Given the description of an element on the screen output the (x, y) to click on. 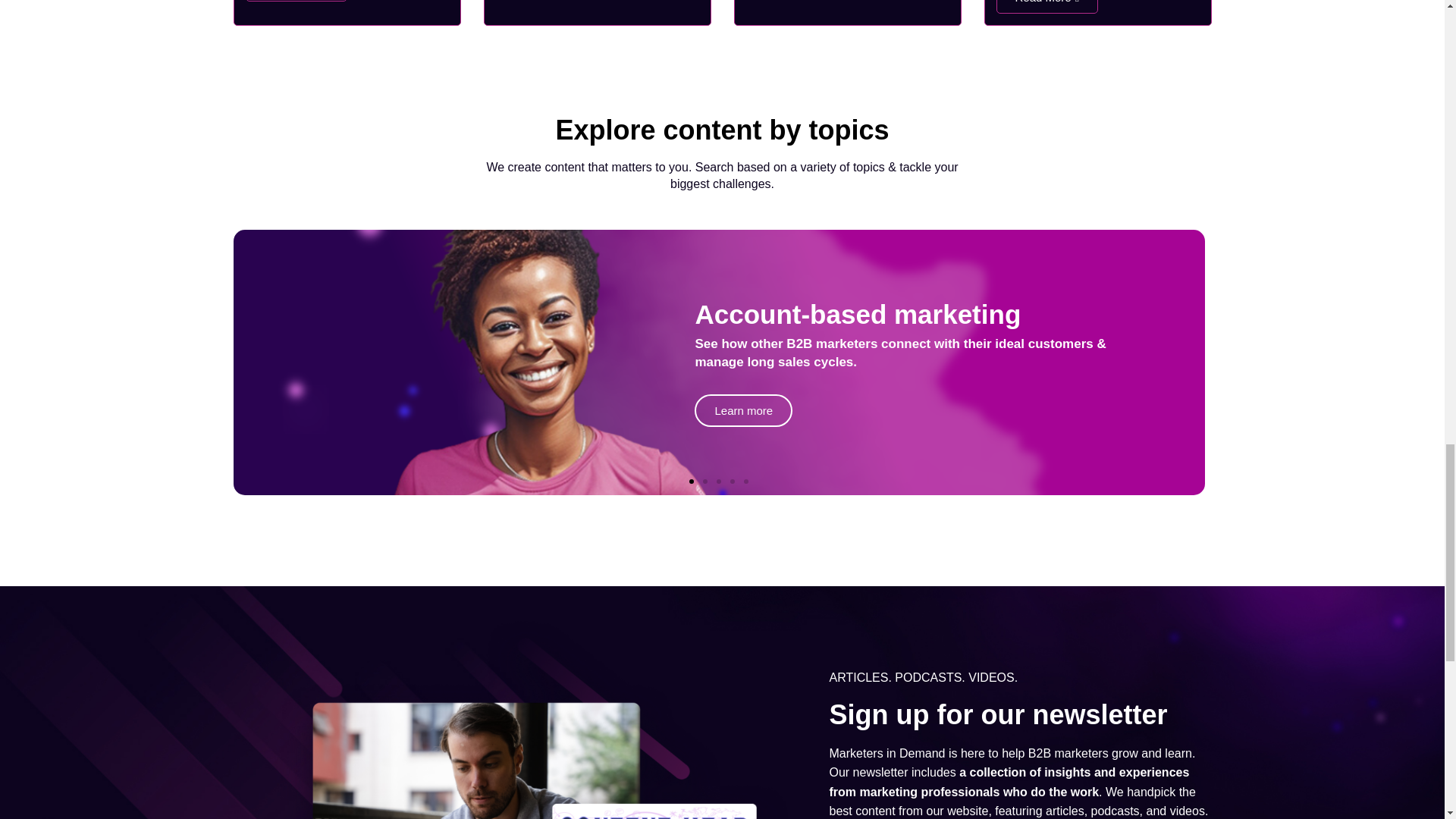
Read More (296, 0)
